Given the description of an element on the screen output the (x, y) to click on. 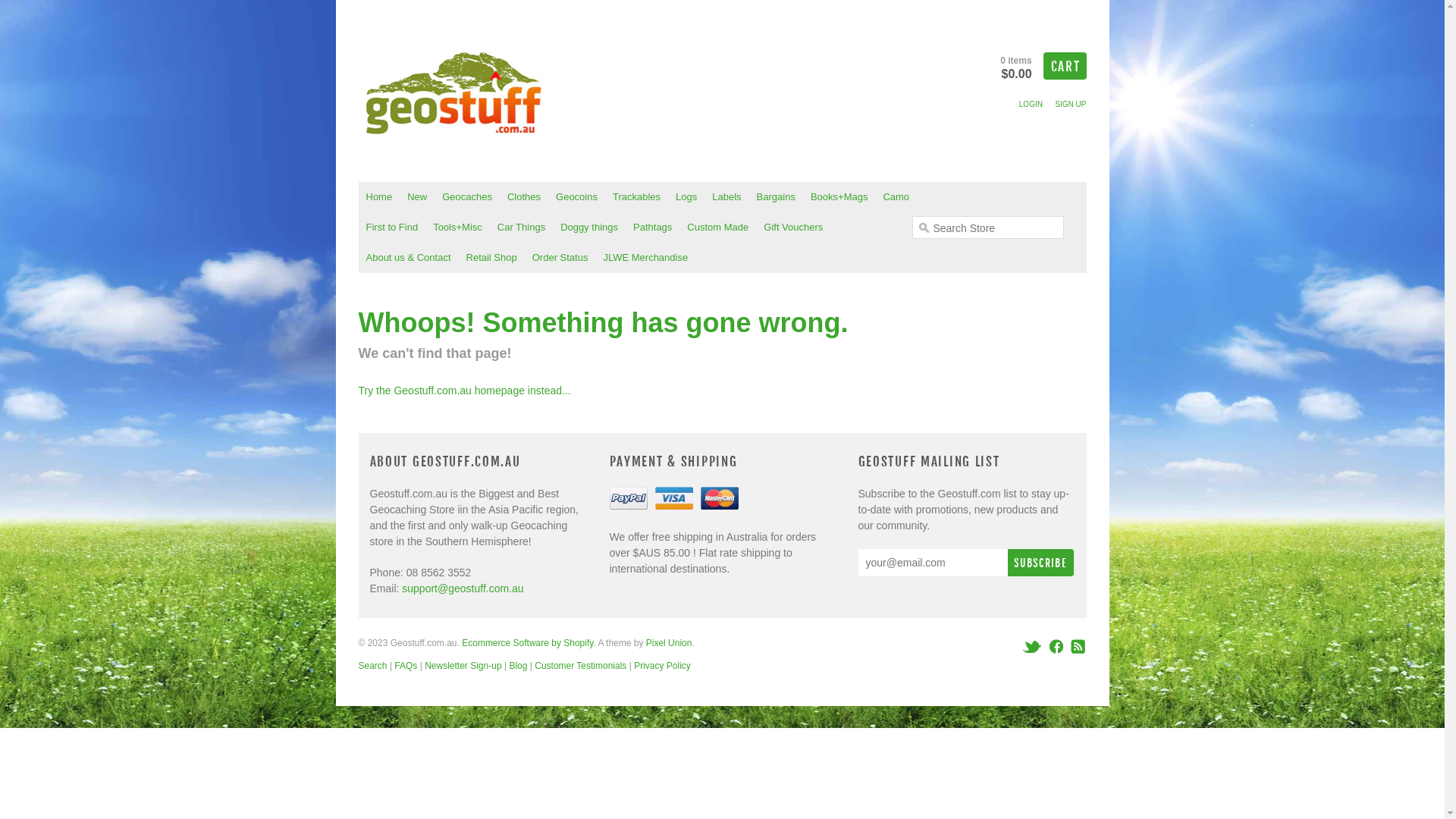
Trackables Element type: text (636, 197)
Geocaches Element type: text (466, 197)
Doggy things Element type: text (588, 227)
Home Element type: text (378, 197)
Ecommerce Software by Shopify Element type: text (527, 642)
Camo Element type: text (895, 197)
Pixel Union Element type: text (669, 642)
New Element type: text (416, 197)
Labels Element type: text (726, 197)
LOGIN Element type: text (1030, 104)
FAQs Element type: text (405, 665)
Privacy Policy Element type: text (661, 665)
Gift Vouchers Element type: text (793, 227)
Clothes Element type: text (523, 197)
Tools+Misc Element type: text (457, 227)
First to Find Element type: text (391, 227)
SIGN UP Element type: text (1069, 104)
Custom Made Element type: text (717, 227)
Customer Testimonials Element type: text (580, 665)
Blog Element type: text (517, 665)
Order Status Element type: text (560, 257)
RSS Element type: text (1075, 646)
support@geostuff.com.au Element type: text (462, 588)
Car Things Element type: text (520, 227)
Pathtags Element type: text (652, 227)
Search Element type: text (371, 665)
Logs Element type: text (686, 197)
About us & Contact Element type: text (407, 257)
Retail Shop Element type: text (491, 257)
Subscribe Element type: text (1040, 562)
Try the Geostuff.com.au homepage instead... Element type: text (463, 390)
Twitter Element type: text (1032, 646)
Facebook Element type: text (1055, 646)
JLWE Merchandise Element type: text (645, 257)
Bargains Element type: text (776, 197)
CART Element type: text (1064, 65)
Newsletter Sign-up Element type: text (462, 665)
Geocoins Element type: text (576, 197)
Books+Mags Element type: text (839, 197)
